Given the description of an element on the screen output the (x, y) to click on. 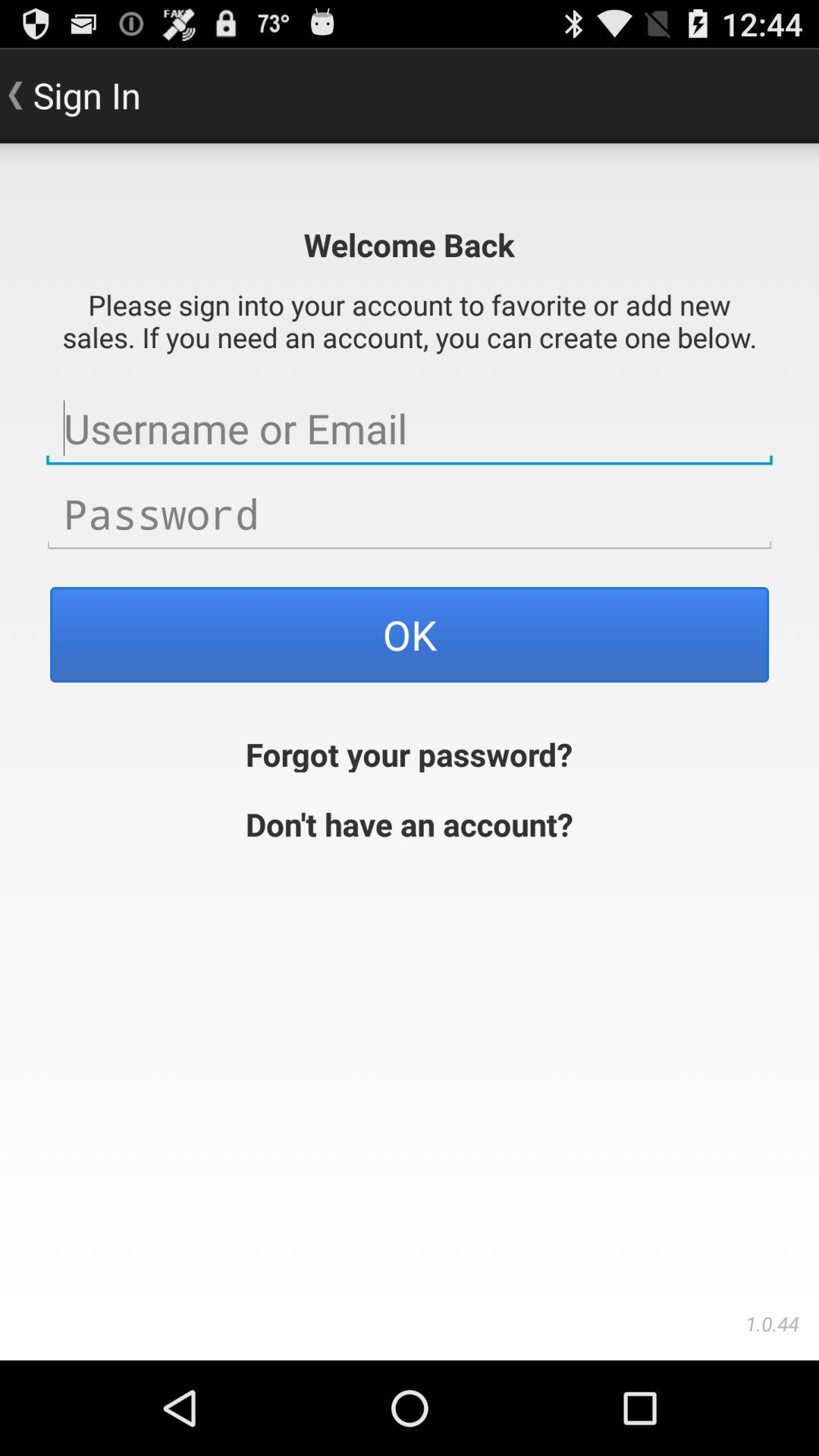
turn off don t have app (409, 822)
